Given the description of an element on the screen output the (x, y) to click on. 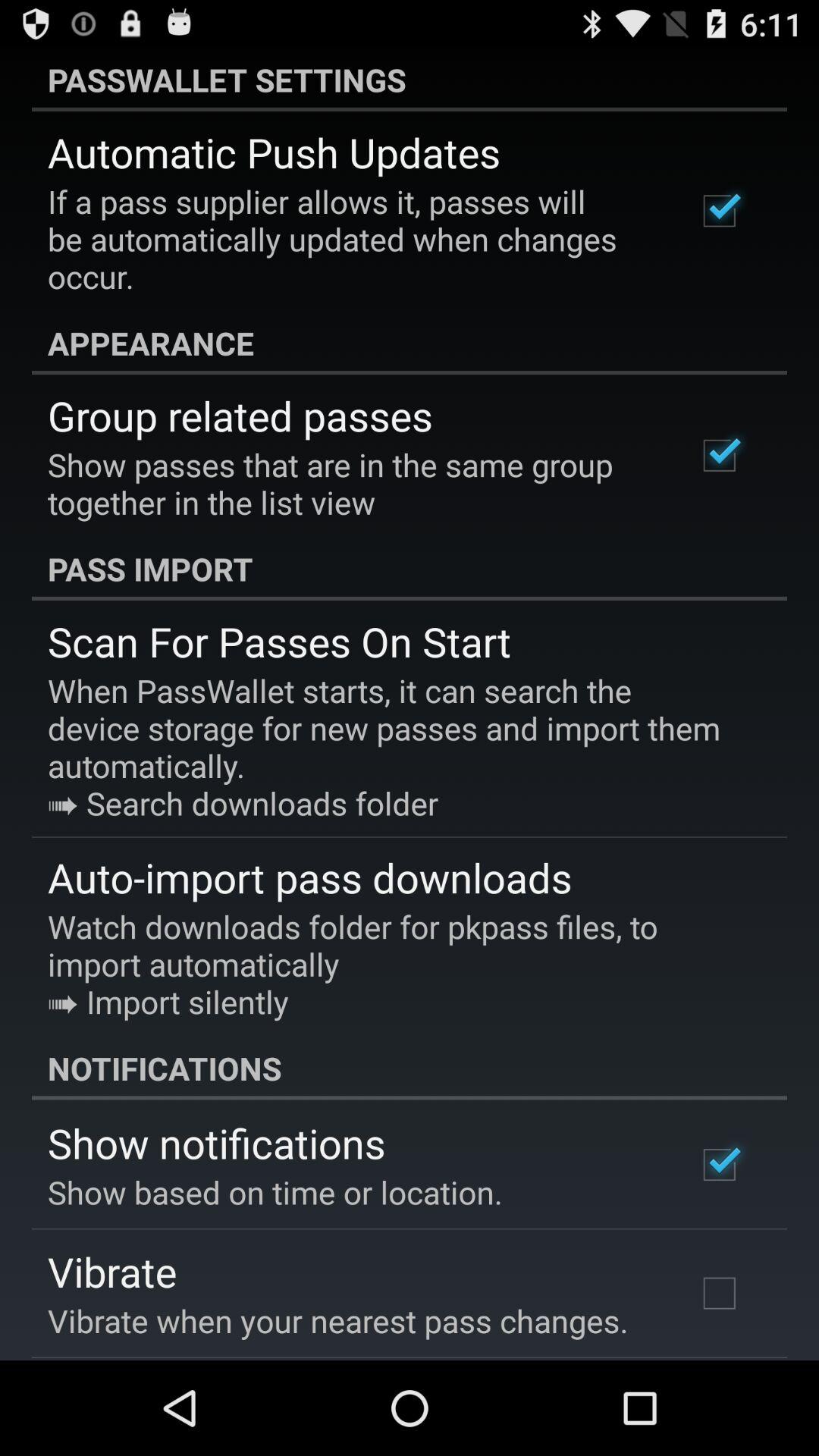
press item below automatic push updates (351, 238)
